Given the description of an element on the screen output the (x, y) to click on. 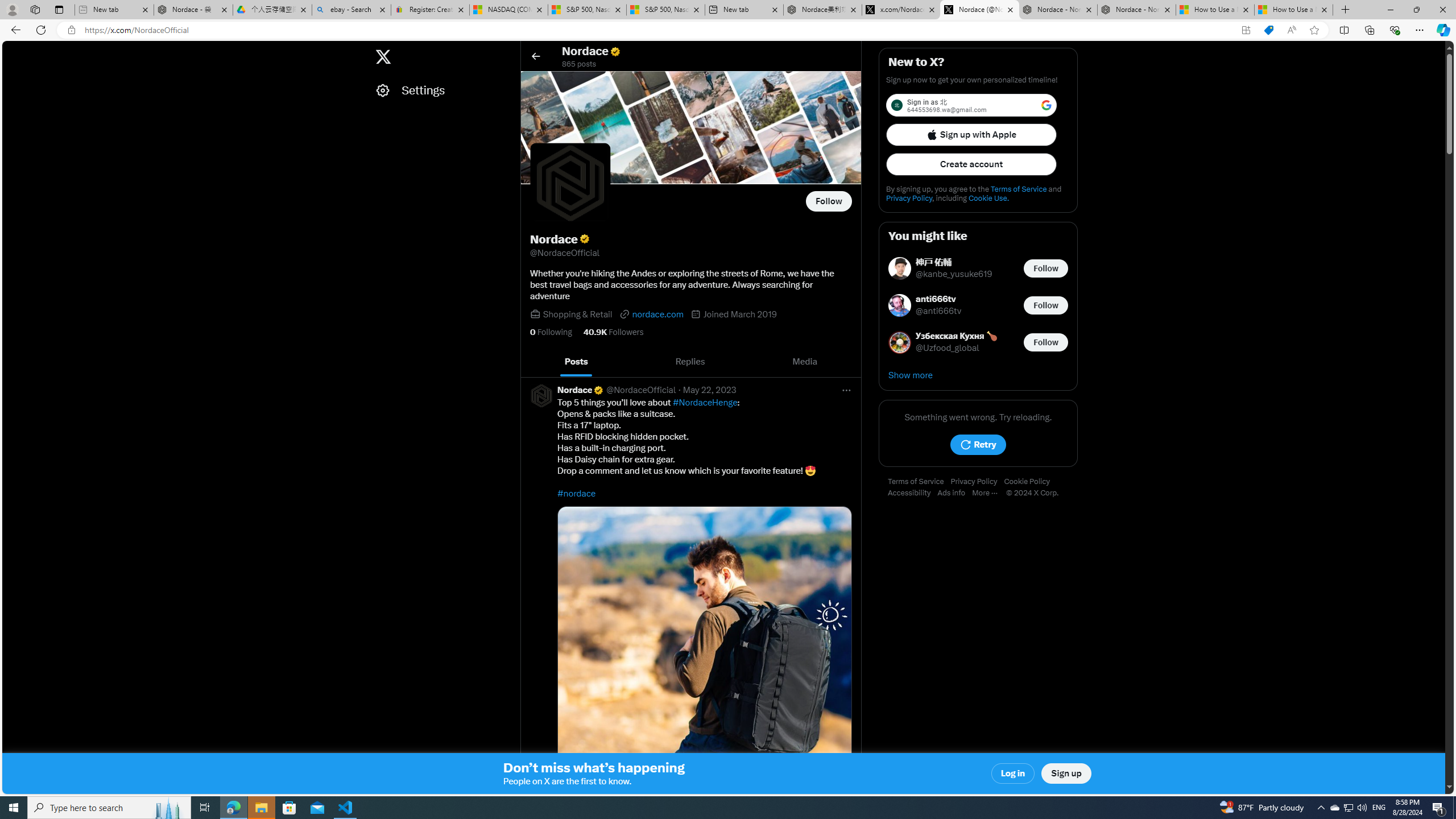
X (382, 56)
